Given the description of an element on the screen output the (x, y) to click on. 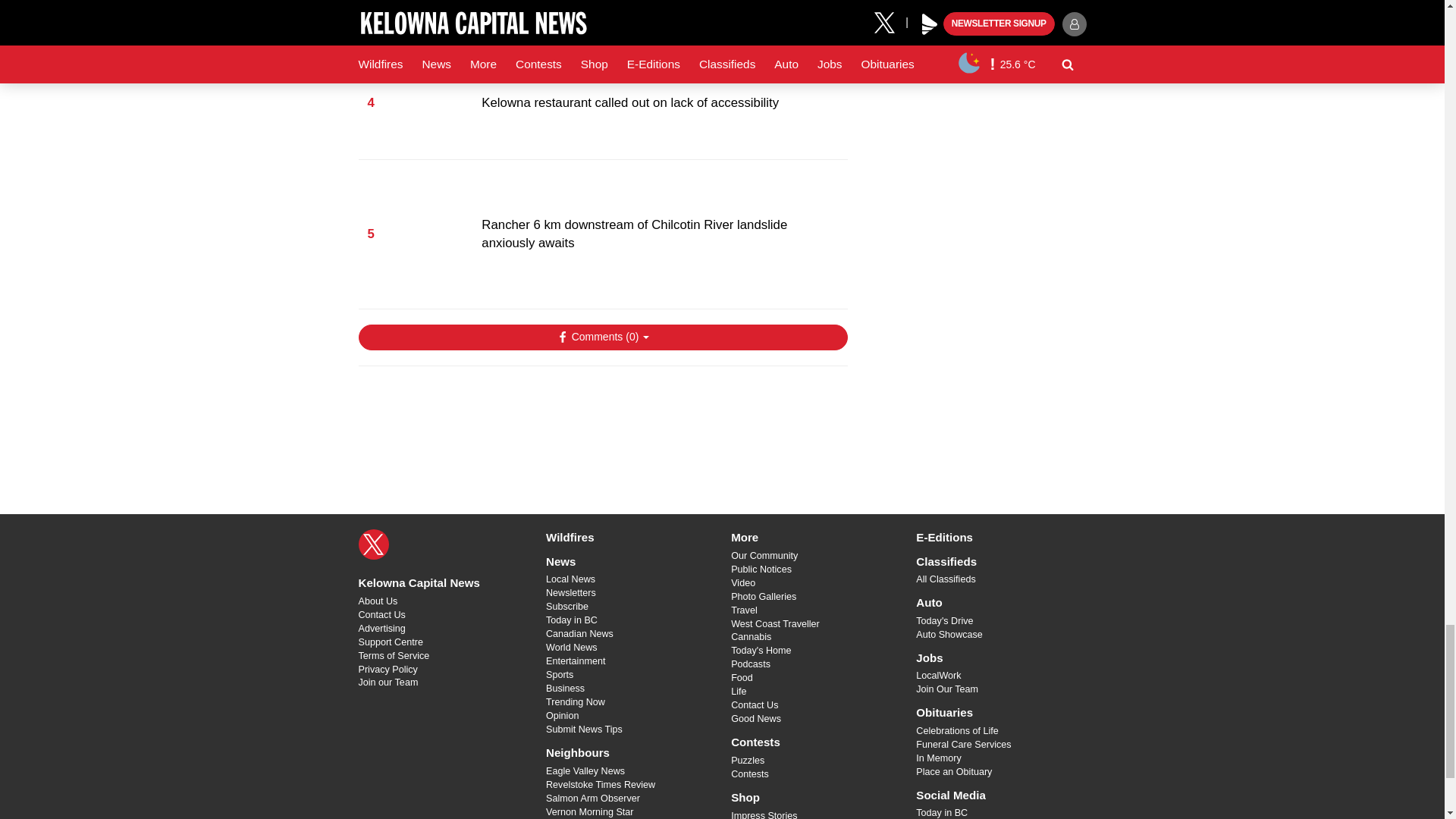
Show Comments (602, 337)
X (373, 544)
